Given the description of an element on the screen output the (x, y) to click on. 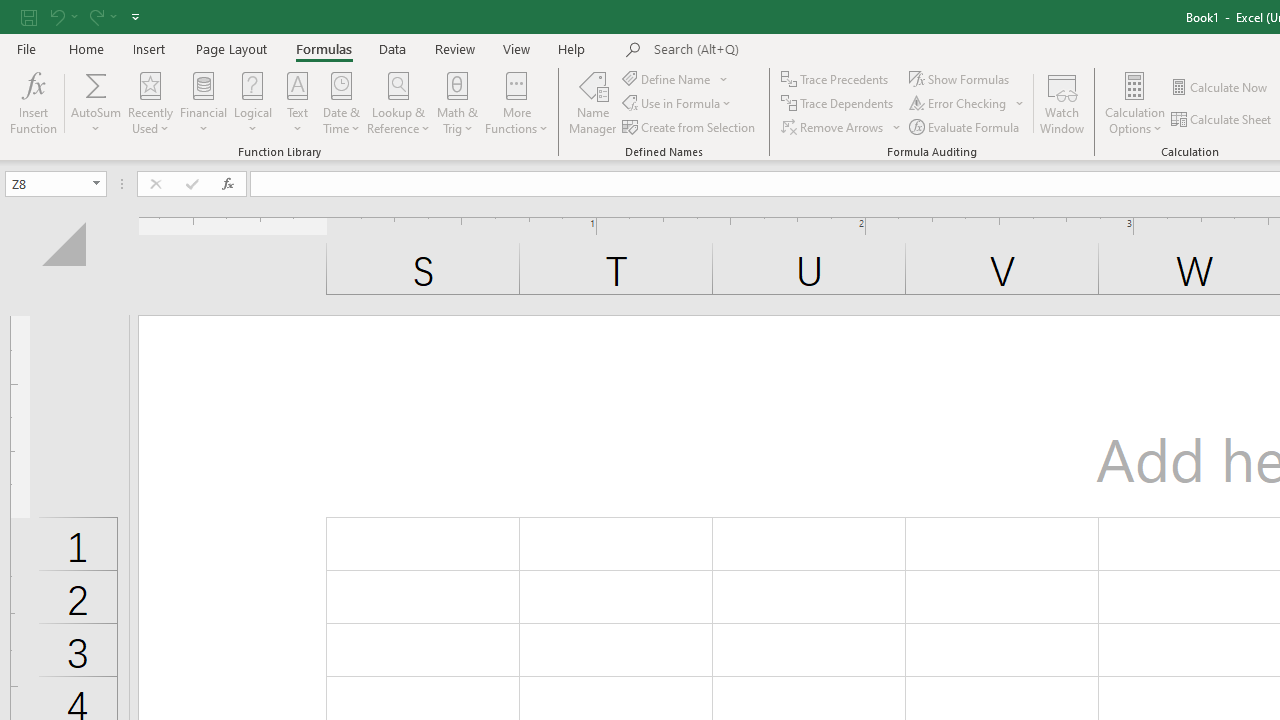
Recently Used (150, 102)
Evaluate Formula (966, 126)
Calculate Now (1220, 87)
Name Manager (593, 102)
Calculate Sheet (1222, 119)
Financial (203, 102)
Trace Precedents (836, 78)
Calculation Options (1135, 102)
